Given the description of an element on the screen output the (x, y) to click on. 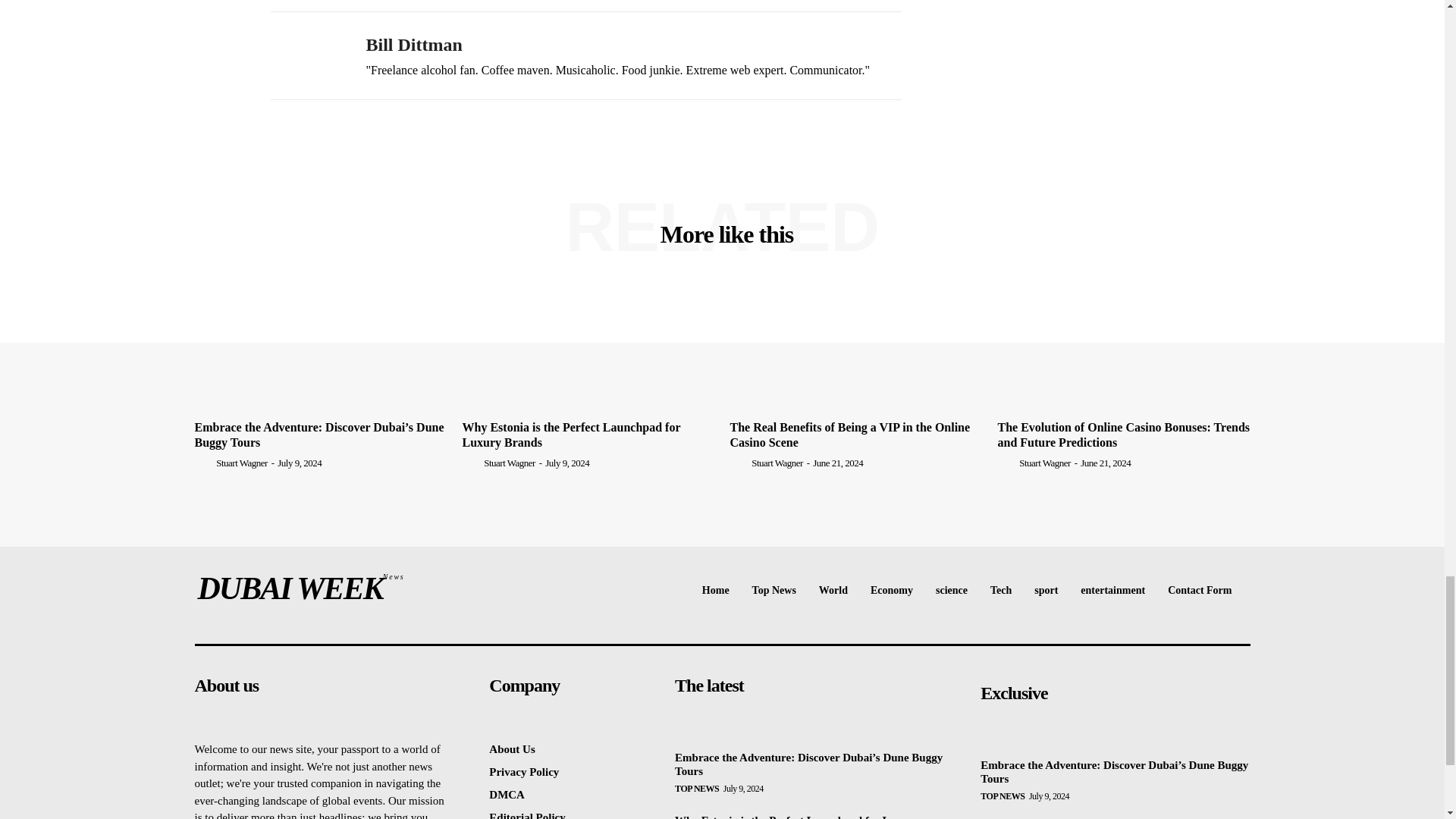
Bill Dittman (305, 55)
